Given the description of an element on the screen output the (x, y) to click on. 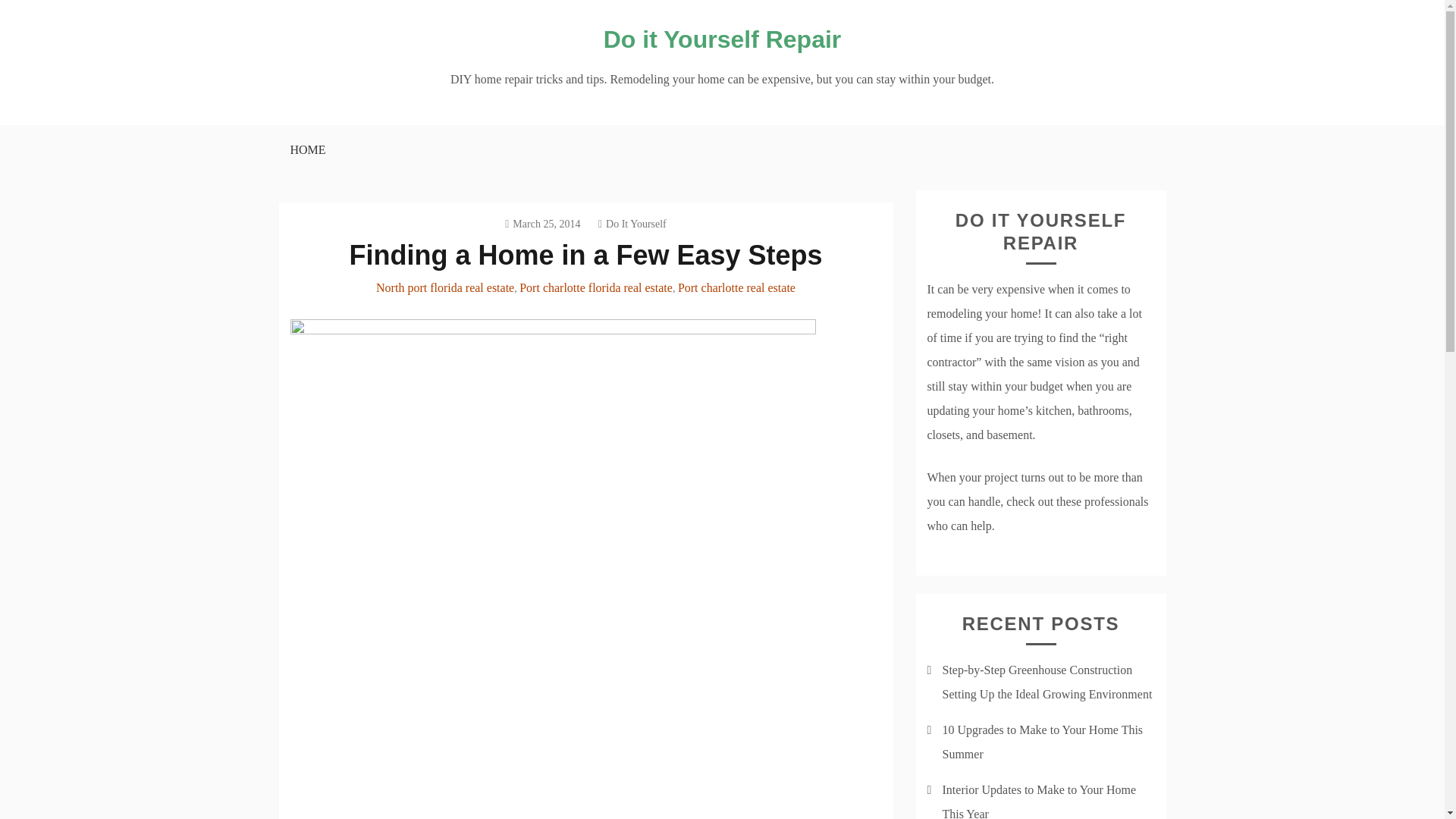
HOME (306, 150)
March 25, 2014 (542, 224)
Port charlotte florida real estate (595, 287)
Do It Yourself (632, 224)
10 Upgrades to Make to Your Home This Summer (1042, 741)
Interior Updates to Make to Your Home This Year (1038, 800)
Port charlotte real estate (736, 287)
North port florida real estate (444, 287)
Do it Yourself Repair (722, 39)
